Given the description of an element on the screen output the (x, y) to click on. 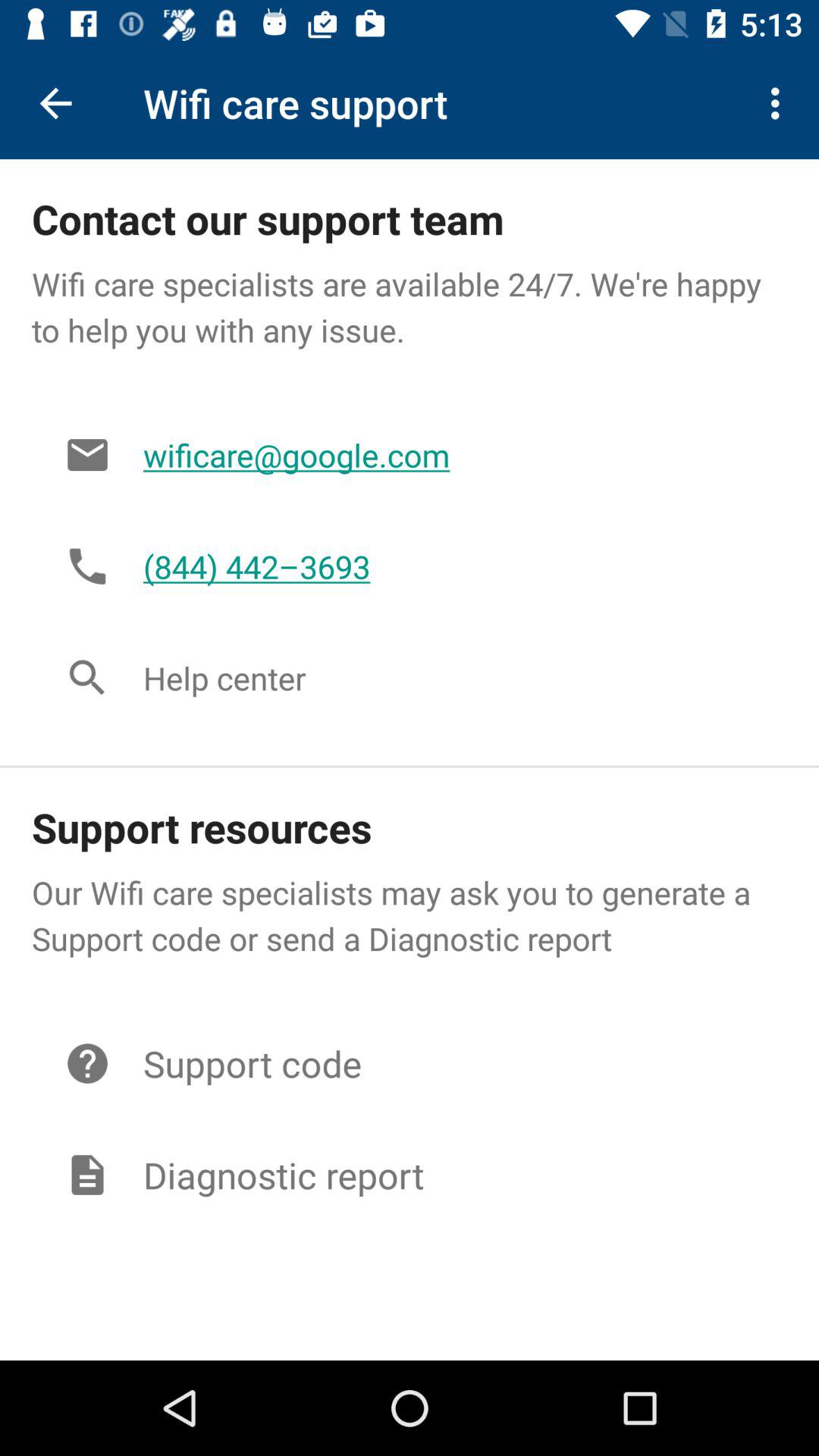
open item next to wifi care support item (779, 103)
